Given the description of an element on the screen output the (x, y) to click on. 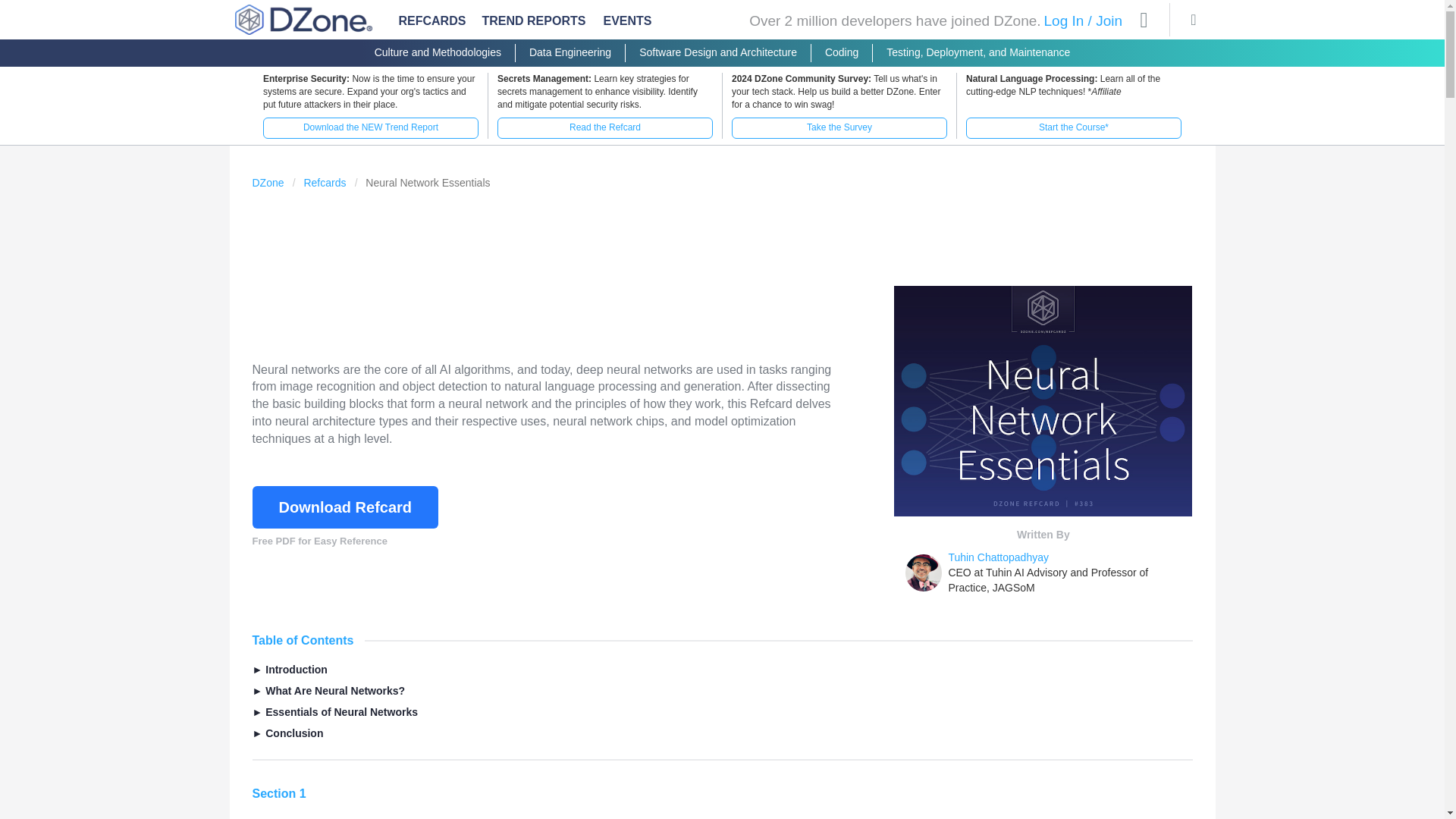
REFCARDS (432, 21)
Log In (1063, 20)
EVENTS (628, 24)
Join (1109, 20)
TREND REPORTS (534, 21)
